Given the description of an element on the screen output the (x, y) to click on. 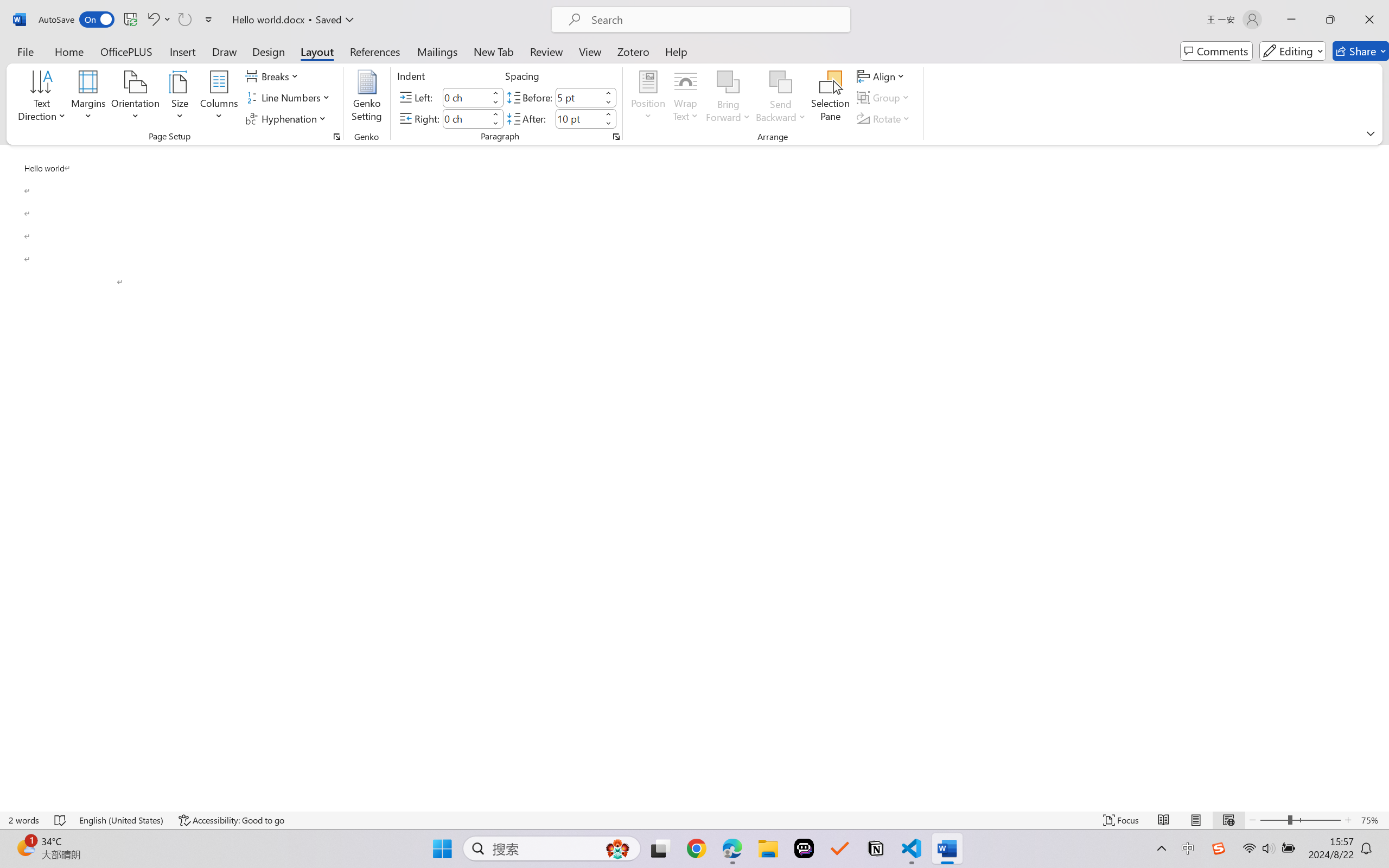
Group (884, 97)
Home (69, 51)
Spacing Before (578, 96)
Language English (United States) (121, 819)
Columns (219, 97)
Close (1369, 19)
